Given the description of an element on the screen output the (x, y) to click on. 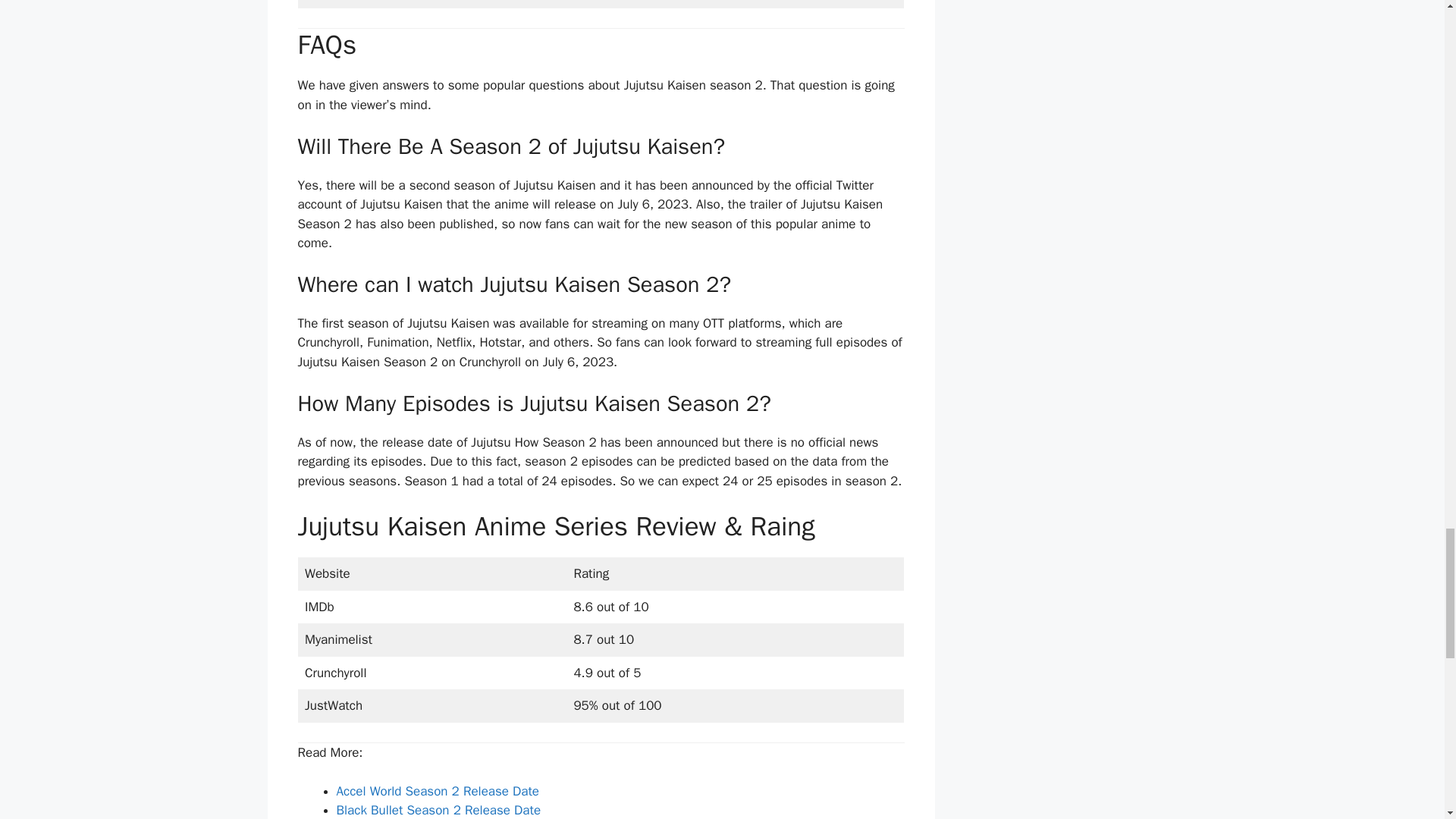
Black Bullet Season 2 Release Date (438, 810)
Accel World Season 2 Release Date (438, 790)
